Given the description of an element on the screen output the (x, y) to click on. 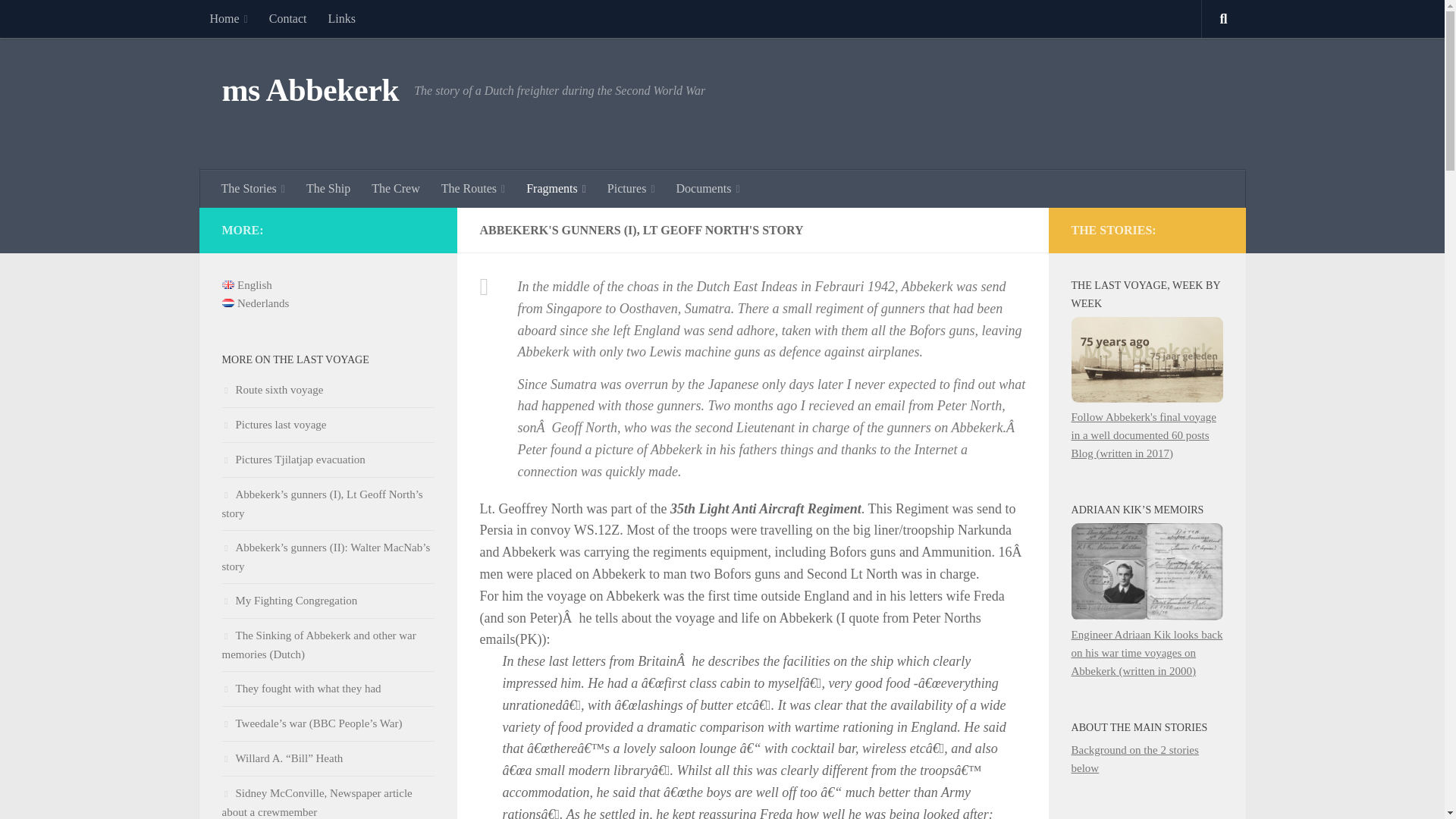
Skip to content (59, 20)
Contact the website (288, 18)
